Given the description of an element on the screen output the (x, y) to click on. 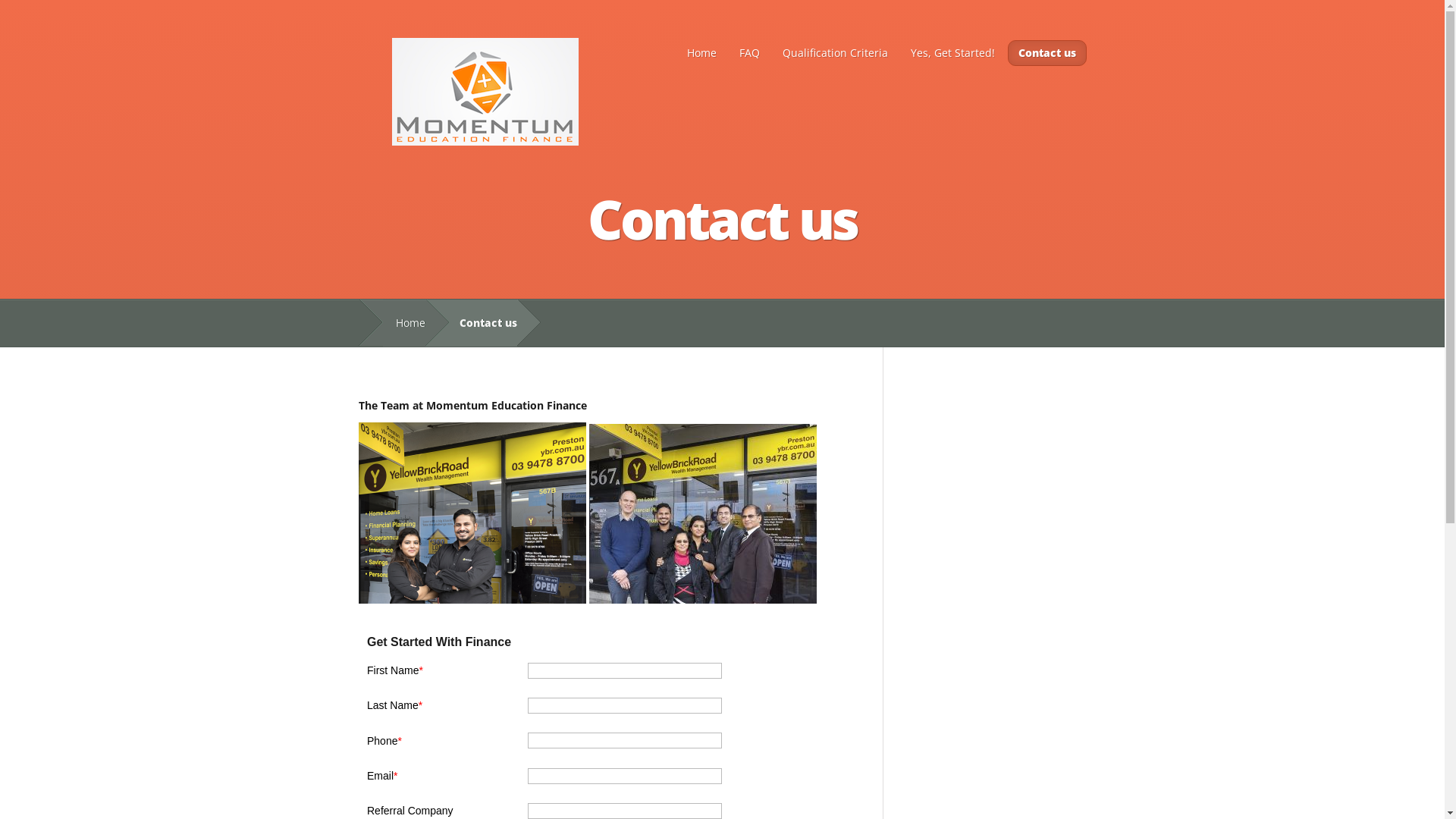
Home Element type: text (700, 52)
Contact us Element type: text (1046, 52)
Qualification Criteria Element type: text (834, 52)
FAQ Element type: text (749, 52)
Yes, Get Started! Element type: text (952, 52)
Home Element type: text (403, 323)
